Given the description of an element on the screen output the (x, y) to click on. 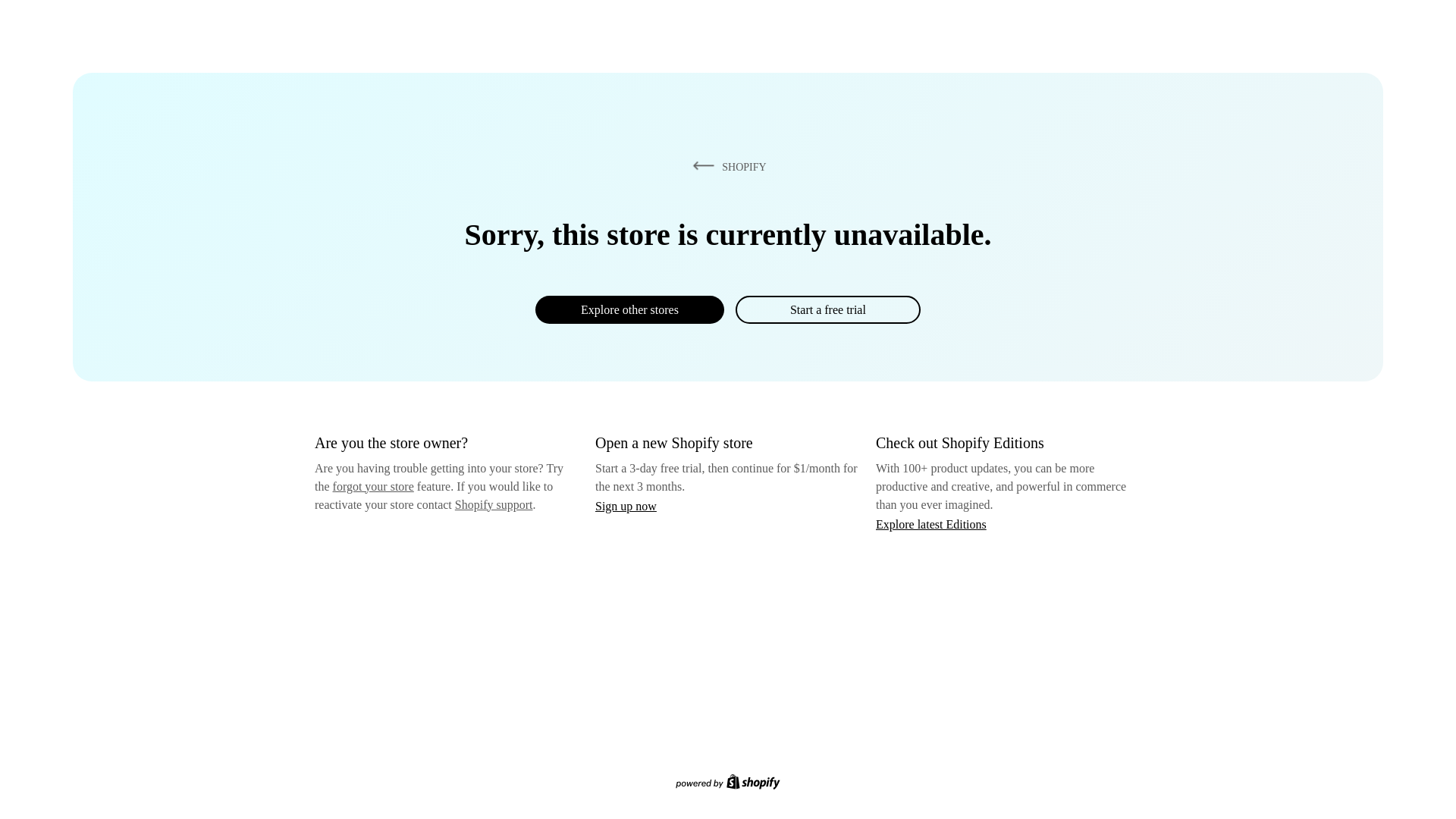
Start a free trial (827, 309)
Shopify support (493, 504)
forgot your store (373, 486)
Explore latest Editions (931, 523)
SHOPIFY (726, 166)
Explore other stores (629, 309)
Sign up now (625, 505)
